Given the description of an element on the screen output the (x, y) to click on. 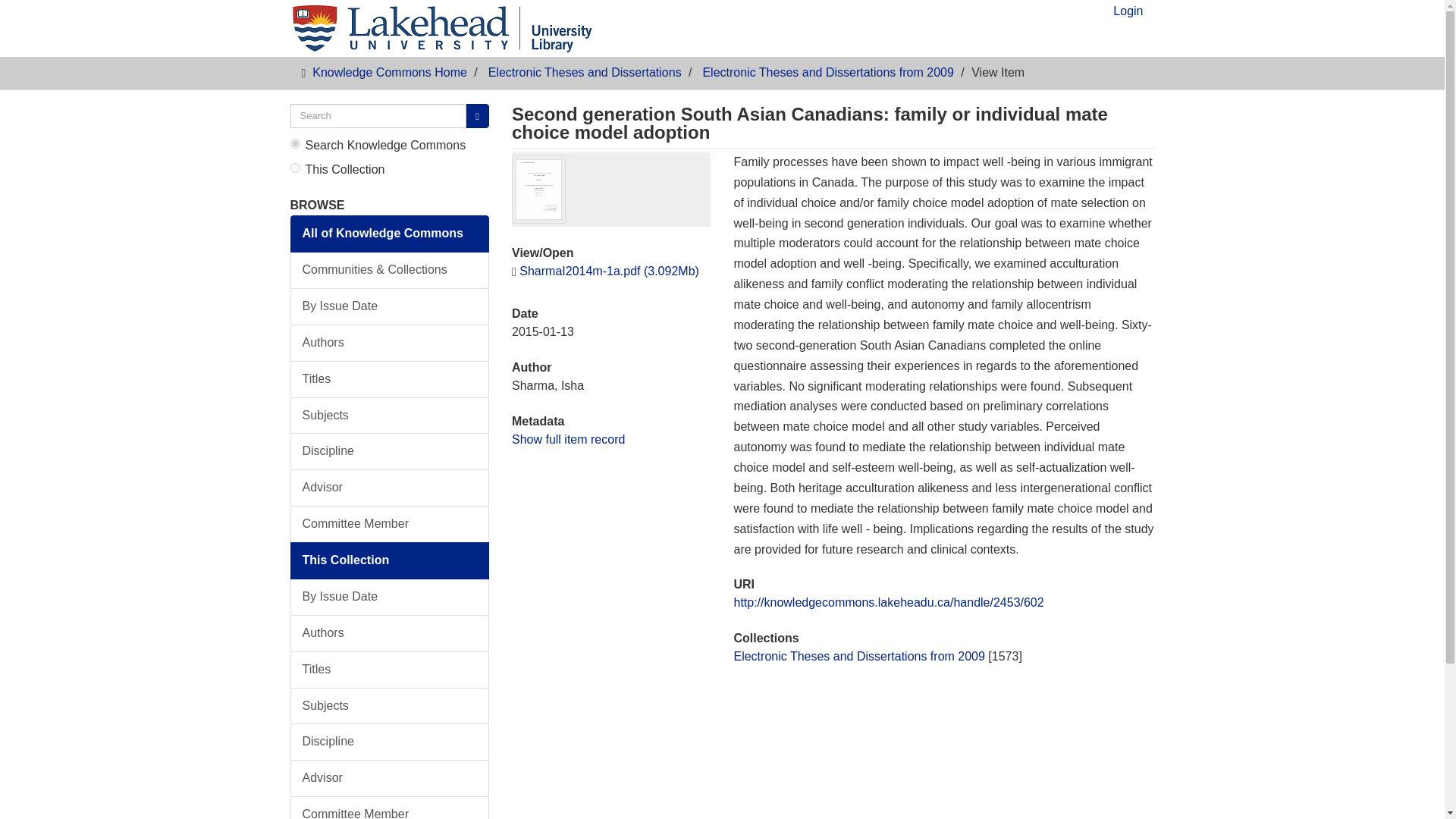
By Issue Date (389, 306)
Discipline (389, 741)
Authors (389, 342)
Titles (389, 379)
Go (477, 116)
By Issue Date (389, 596)
Advisor (389, 487)
Authors (389, 633)
This Collection (389, 560)
Advisor (389, 778)
